Given the description of an element on the screen output the (x, y) to click on. 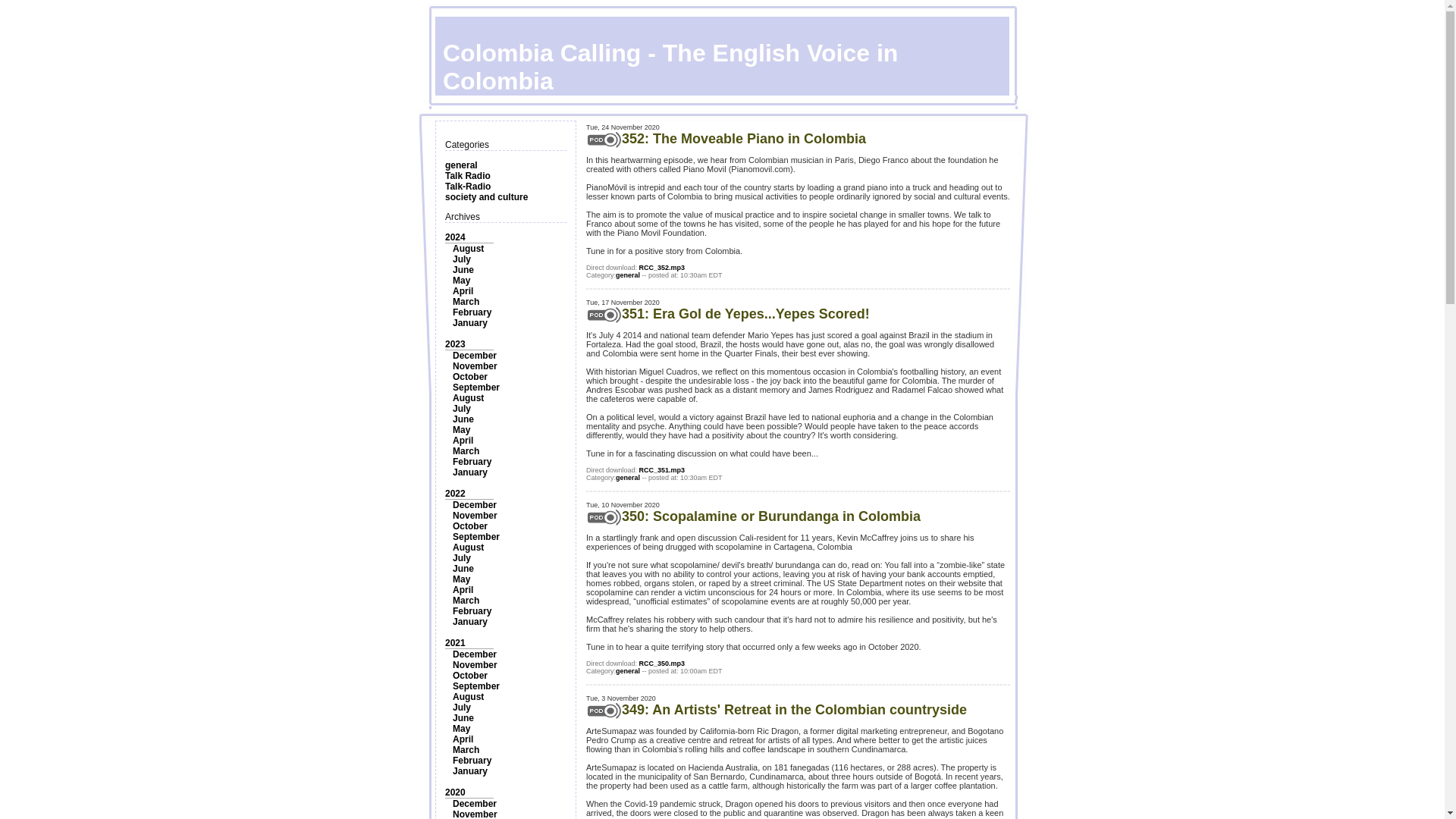
September (475, 536)
August (467, 248)
July (461, 557)
May (461, 429)
2022 (455, 493)
March (465, 450)
July (461, 258)
September (475, 387)
2024 (455, 236)
July (461, 408)
